Given the description of an element on the screen output the (x, y) to click on. 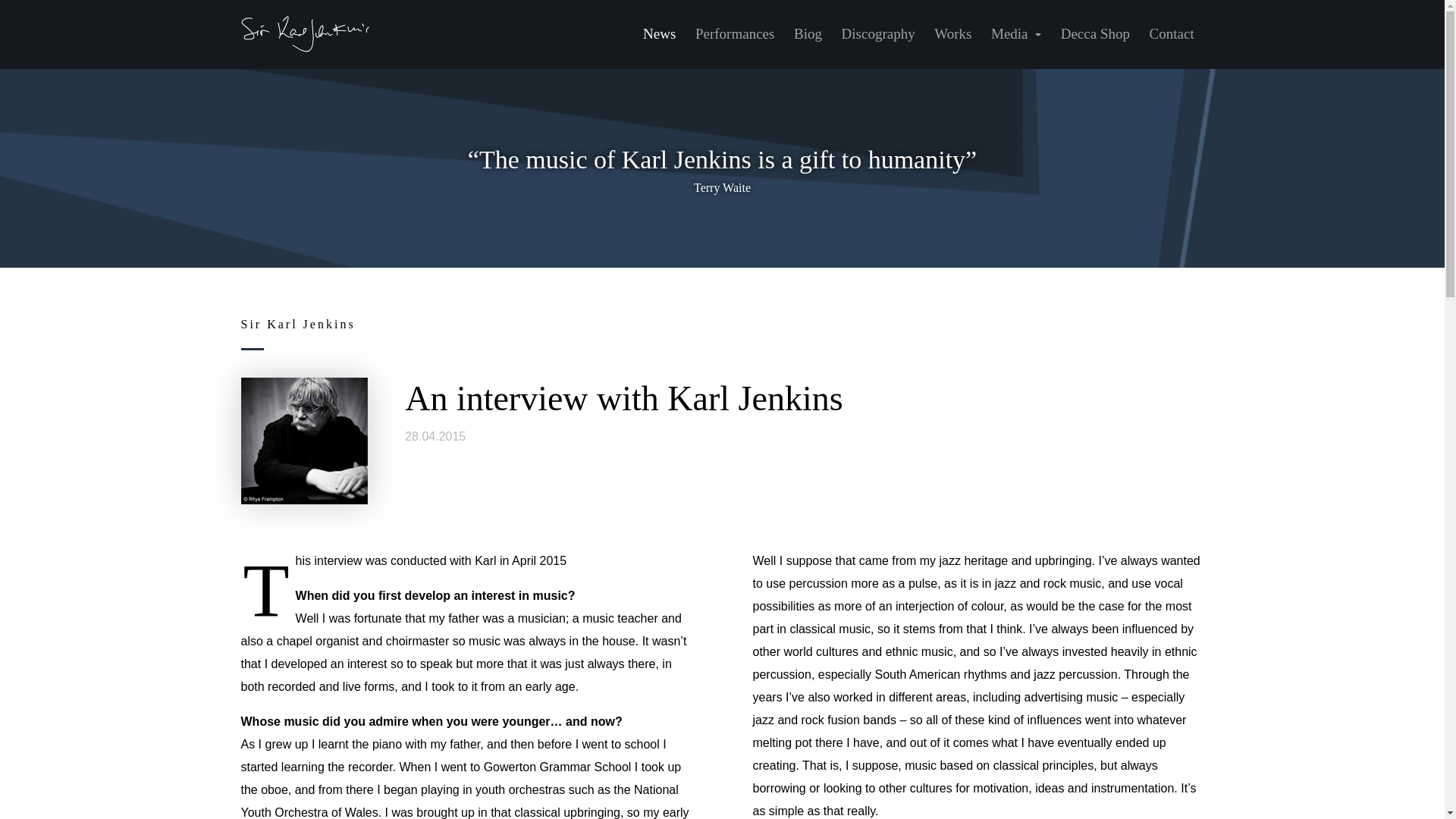
Biog (807, 34)
Works (952, 34)
Contact (1172, 34)
News (659, 34)
Decca Shop (1095, 34)
Performances (734, 34)
Discography (877, 34)
Media (1016, 34)
